Given the description of an element on the screen output the (x, y) to click on. 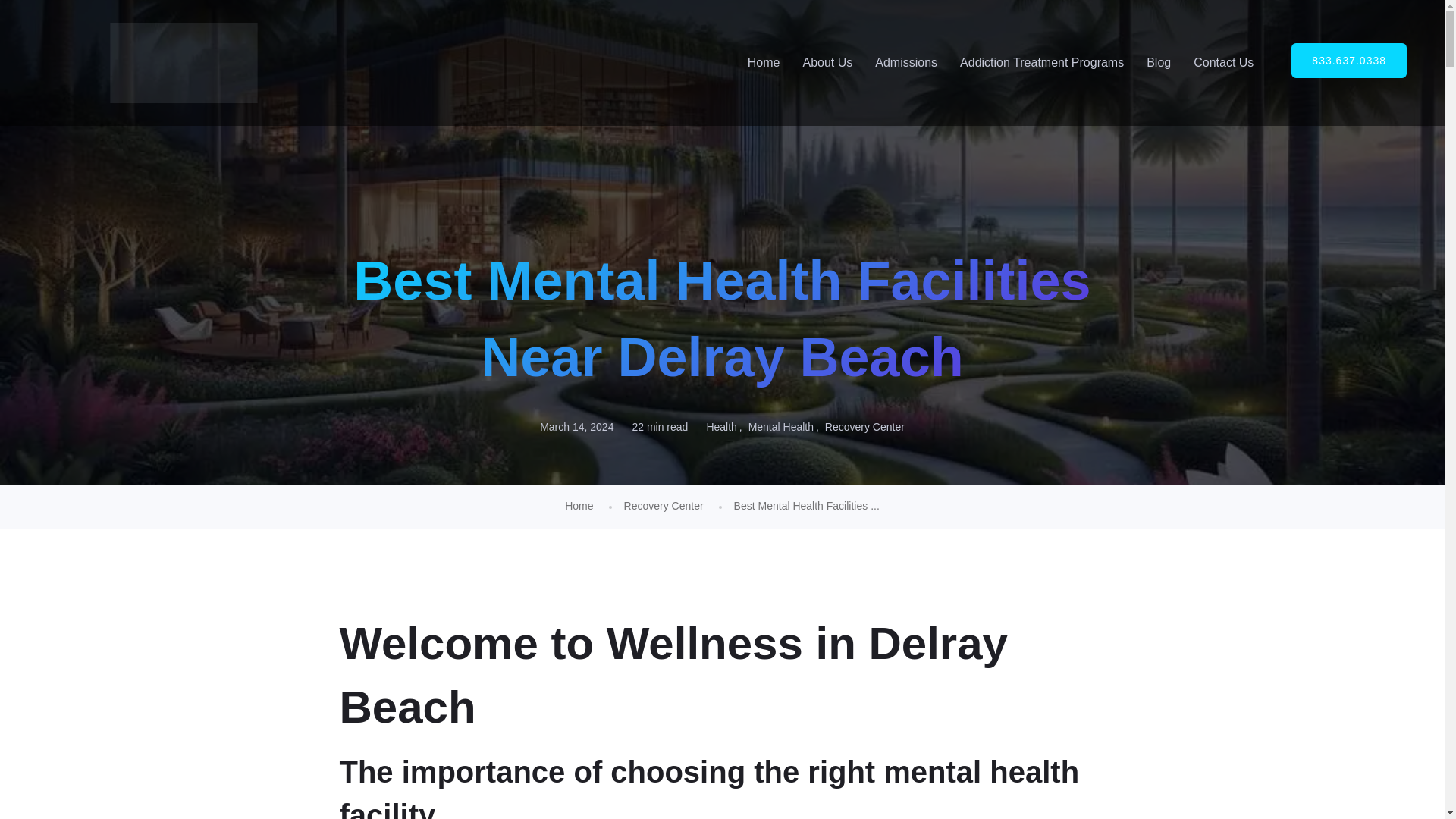
Admissions (906, 62)
Home (578, 505)
About Us (826, 62)
Contact Us (1223, 62)
Recovery Center (663, 505)
Home (578, 505)
Best Mental Health Facilities Near Delray Beach (806, 505)
Health (725, 426)
Addiction Treatment Programs (1041, 62)
Delray Beach IOP (183, 62)
833.637.0338 (1348, 60)
Mental Health (785, 426)
Recovery Center (864, 426)
